Given the description of an element on the screen output the (x, y) to click on. 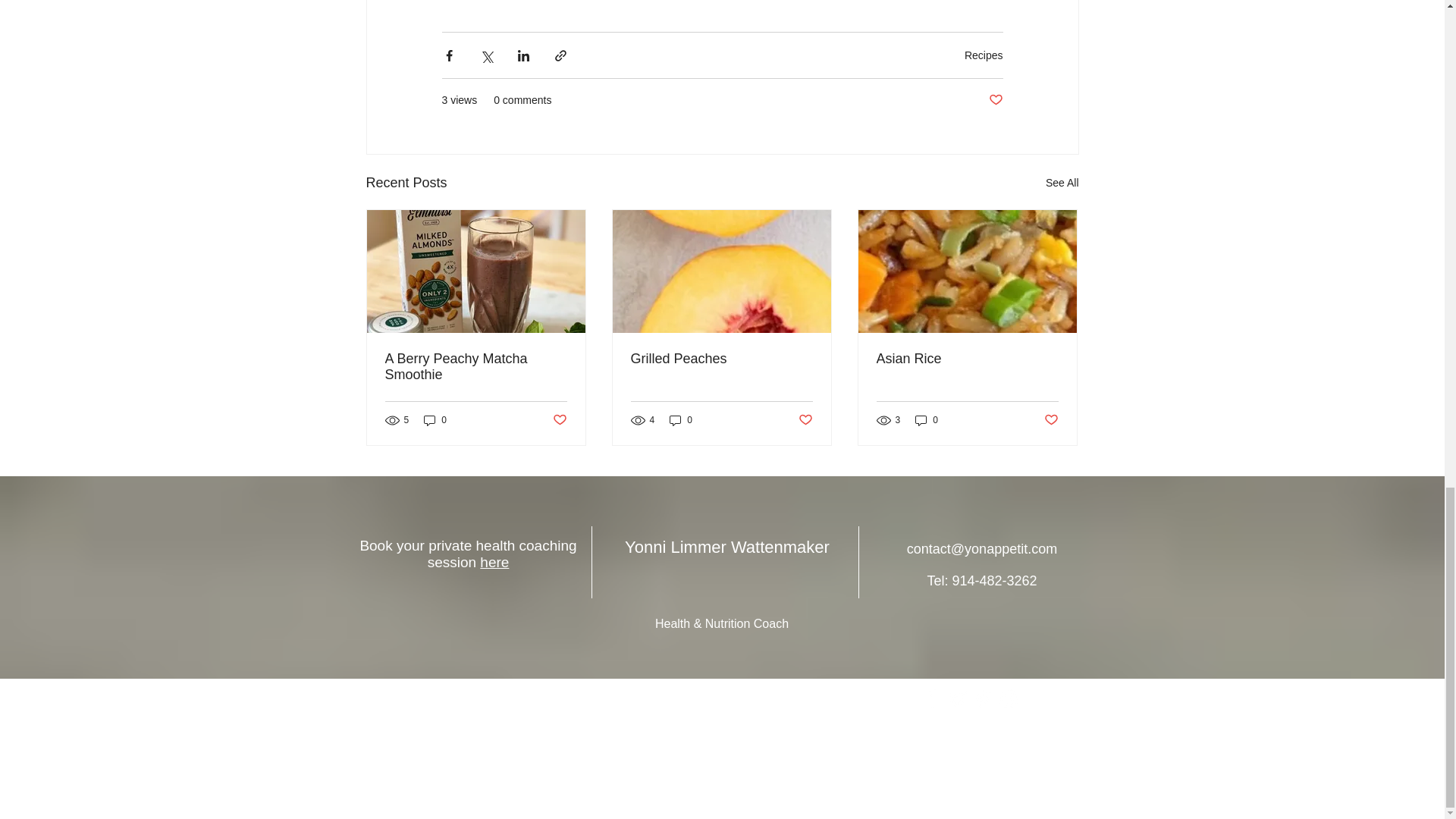
0 (435, 420)
Grilled Peaches (721, 358)
Asian Rice (967, 358)
Recipes (983, 55)
Post not marked as liked (995, 100)
here (494, 562)
See All (1061, 182)
Post not marked as liked (804, 420)
Yonni Limmer Wattenmaker (726, 546)
0 (926, 420)
Post not marked as liked (1050, 420)
Post not marked as liked (558, 420)
A Berry Peachy Matcha Smoothie (476, 367)
0 (681, 420)
